Given the description of an element on the screen output the (x, y) to click on. 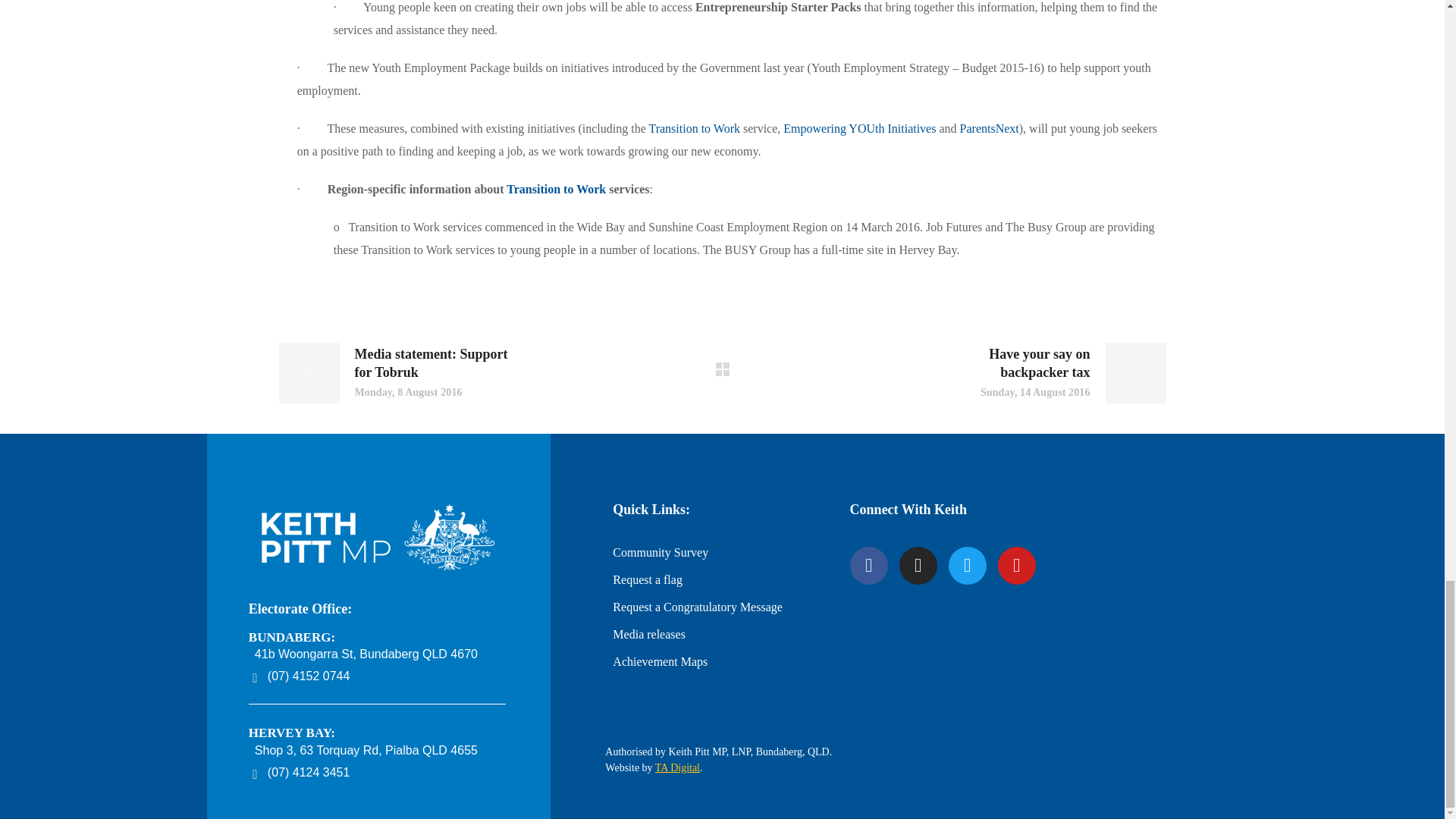
Media statement: Support for Tobruk (396, 373)
Have your say on backpacker tax (1048, 373)
